Given the description of an element on the screen output the (x, y) to click on. 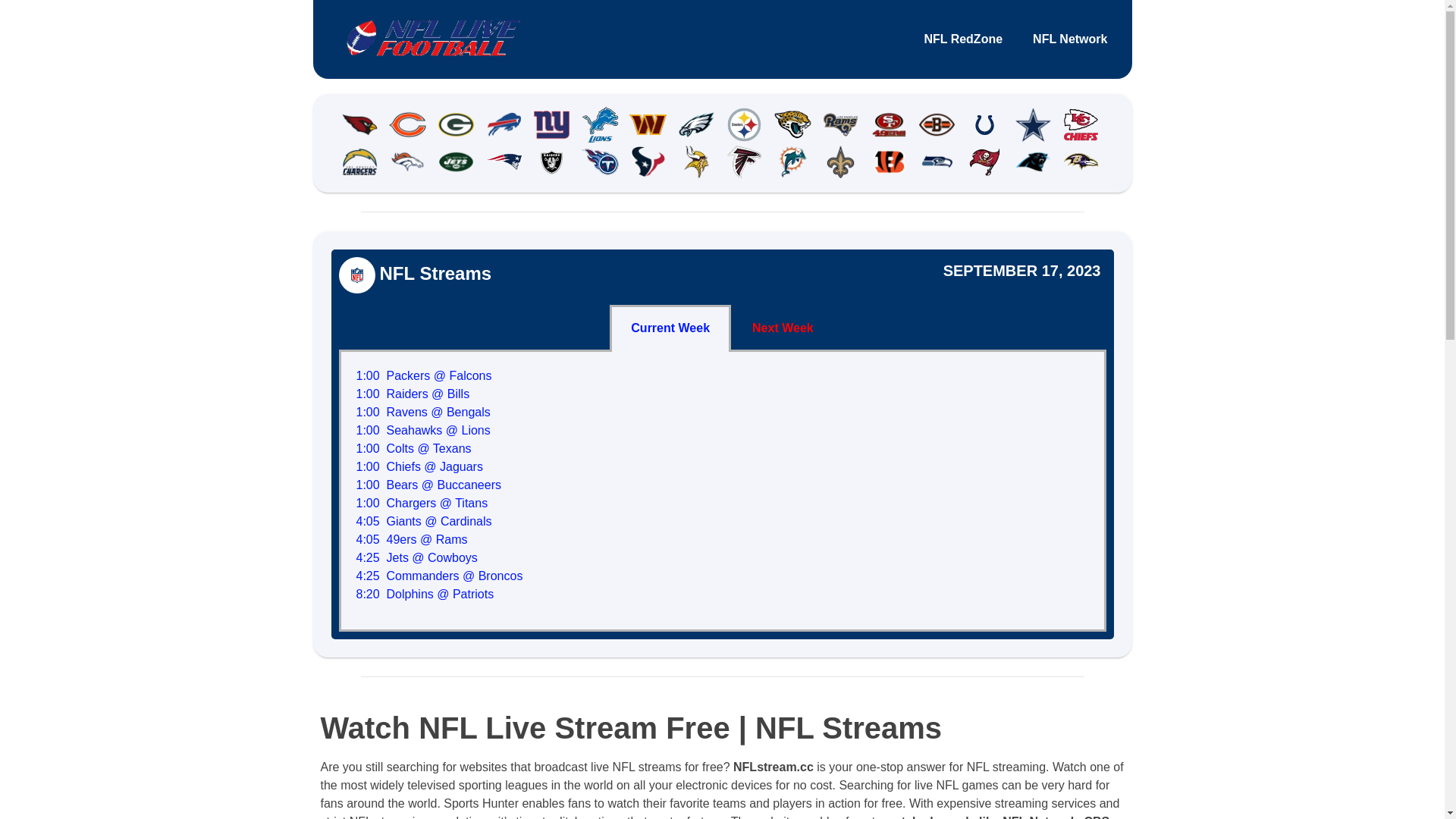
Commanders @ Broncos Element type: text (454, 575)
Colts @ Texans Element type: text (428, 448)
NFL RedZone Element type: text (962, 38)
Bears @ Buccaneers Element type: text (443, 484)
Ravens @ Bengals Element type: text (438, 411)
Raiders @ Bills Element type: text (428, 393)
Giants @ Cardinals Element type: text (439, 520)
Jets @ Cowboys Element type: text (431, 557)
Chiefs @ Jaguars Element type: text (434, 466)
Packers @ Falcons Element type: text (439, 375)
NFL Network Element type: text (1069, 38)
Seahawks @ Lions Element type: text (438, 429)
Chargers @ Titans Element type: text (437, 502)
Dolphins @ Patriots Element type: text (440, 593)
49ers @ Rams Element type: text (426, 539)
